Given the description of an element on the screen output the (x, y) to click on. 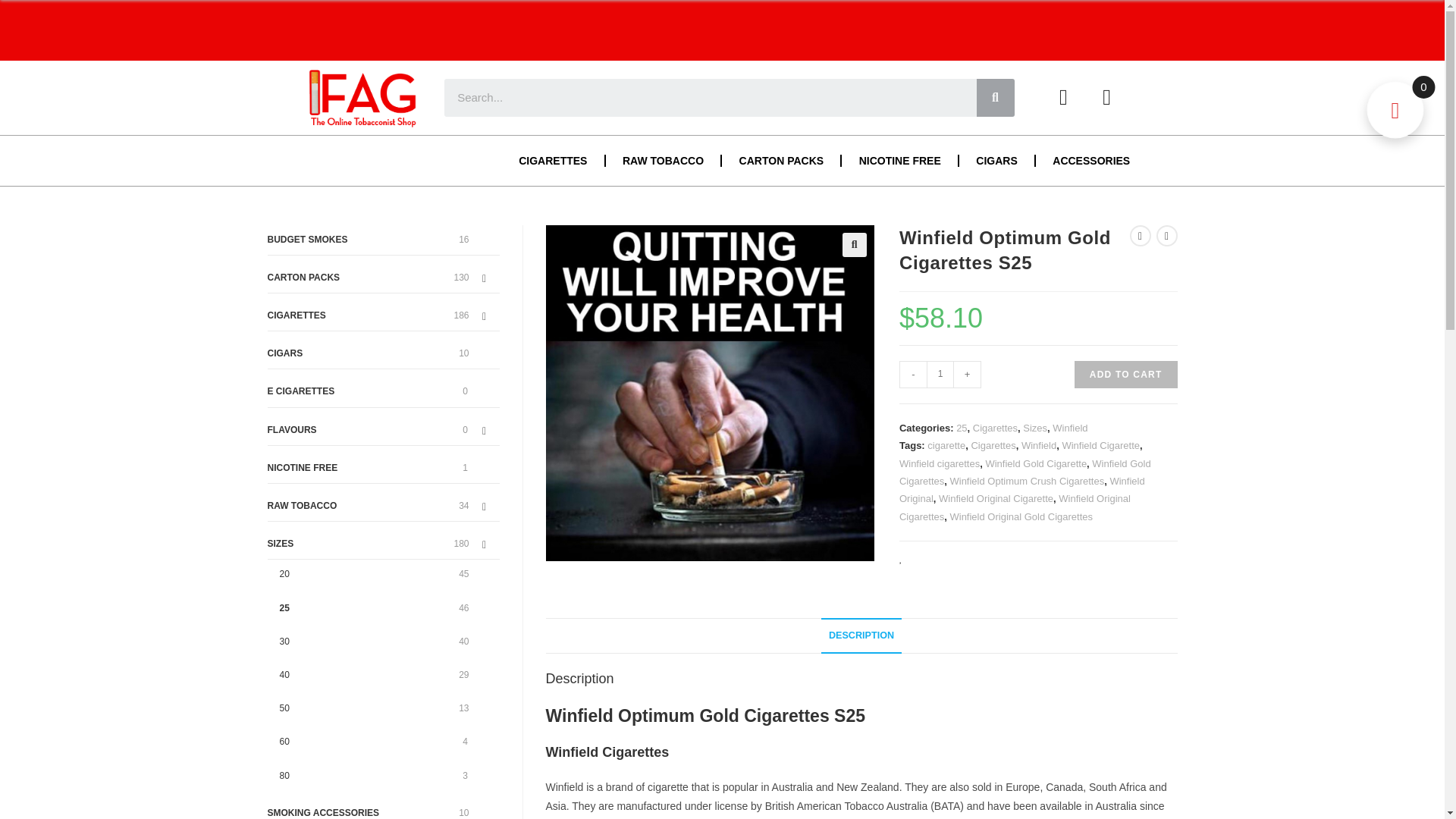
Search (995, 97)
ACCESSORIES (1091, 160)
NICOTINE FREE (899, 160)
Search (710, 97)
CARTON PACKS (781, 160)
Raw RYO 80g (710, 393)
RAW TOBACCO (662, 160)
1 (939, 374)
CIGARS (996, 160)
CIGARETTES (553, 160)
